Given the description of an element on the screen output the (x, y) to click on. 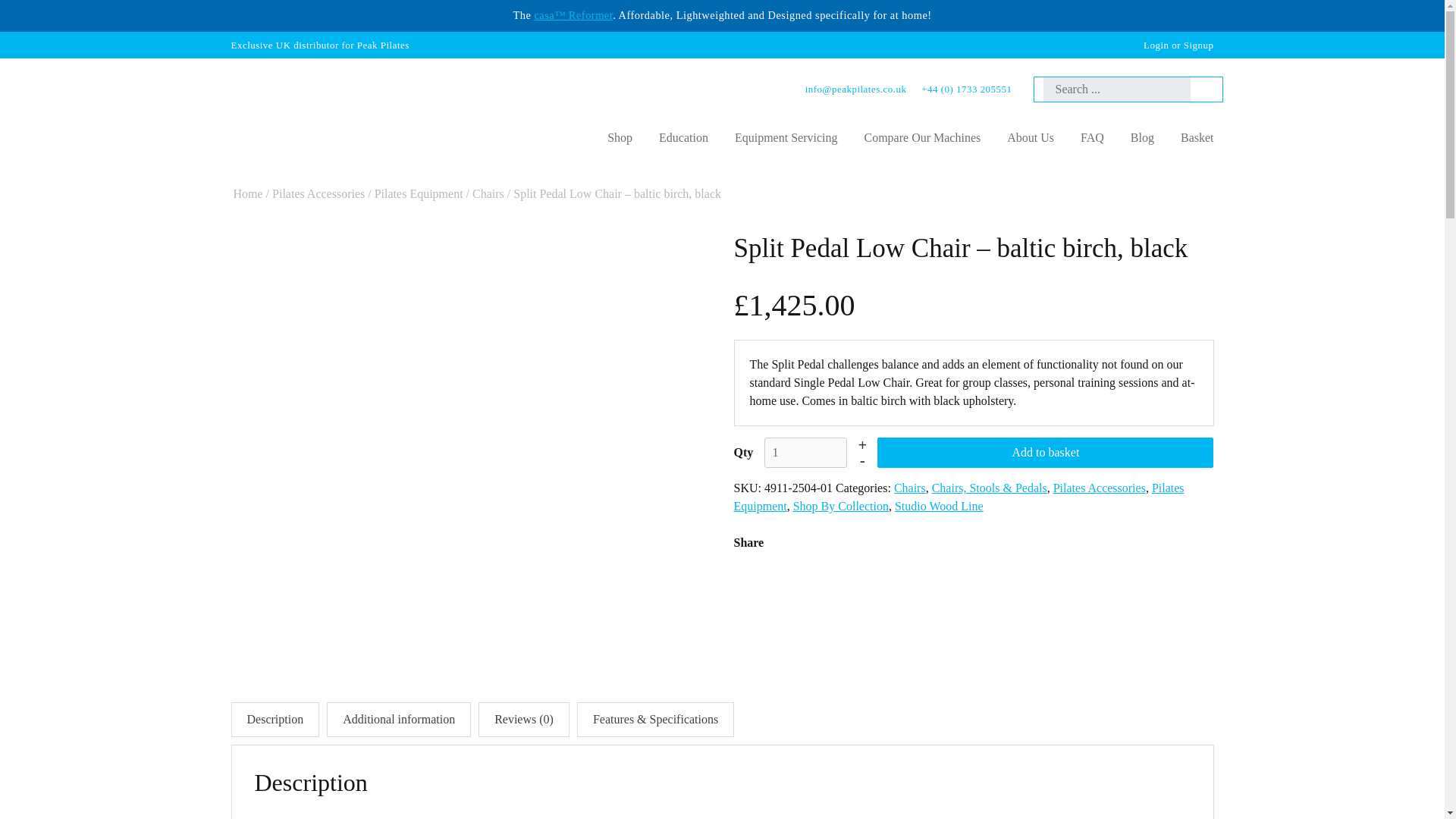
Equipment Servicing (786, 137)
Compare Our Machines (921, 137)
Shop (619, 137)
Education (683, 137)
About Us (1030, 137)
Search (1201, 88)
Basket (1197, 137)
1 (805, 452)
FAQ (1091, 137)
Blog (1142, 137)
